Given the description of an element on the screen output the (x, y) to click on. 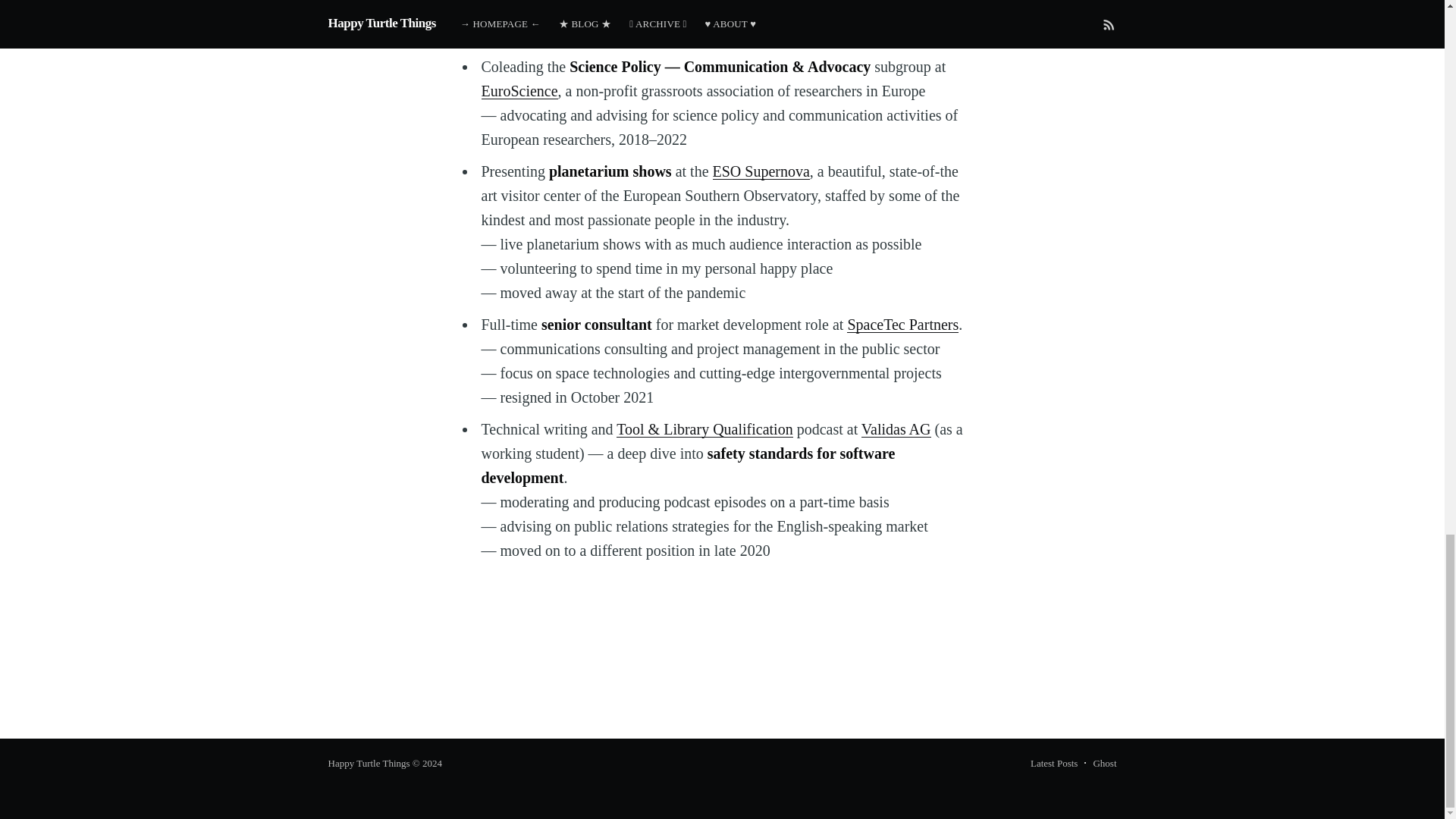
EuroScience (518, 90)
Validas AG (896, 428)
Latest Posts (1053, 763)
Ghost (1104, 763)
SpaceTec Partners (902, 324)
Happy Turtle Things (368, 763)
ESO Supernova (761, 170)
